Given the description of an element on the screen output the (x, y) to click on. 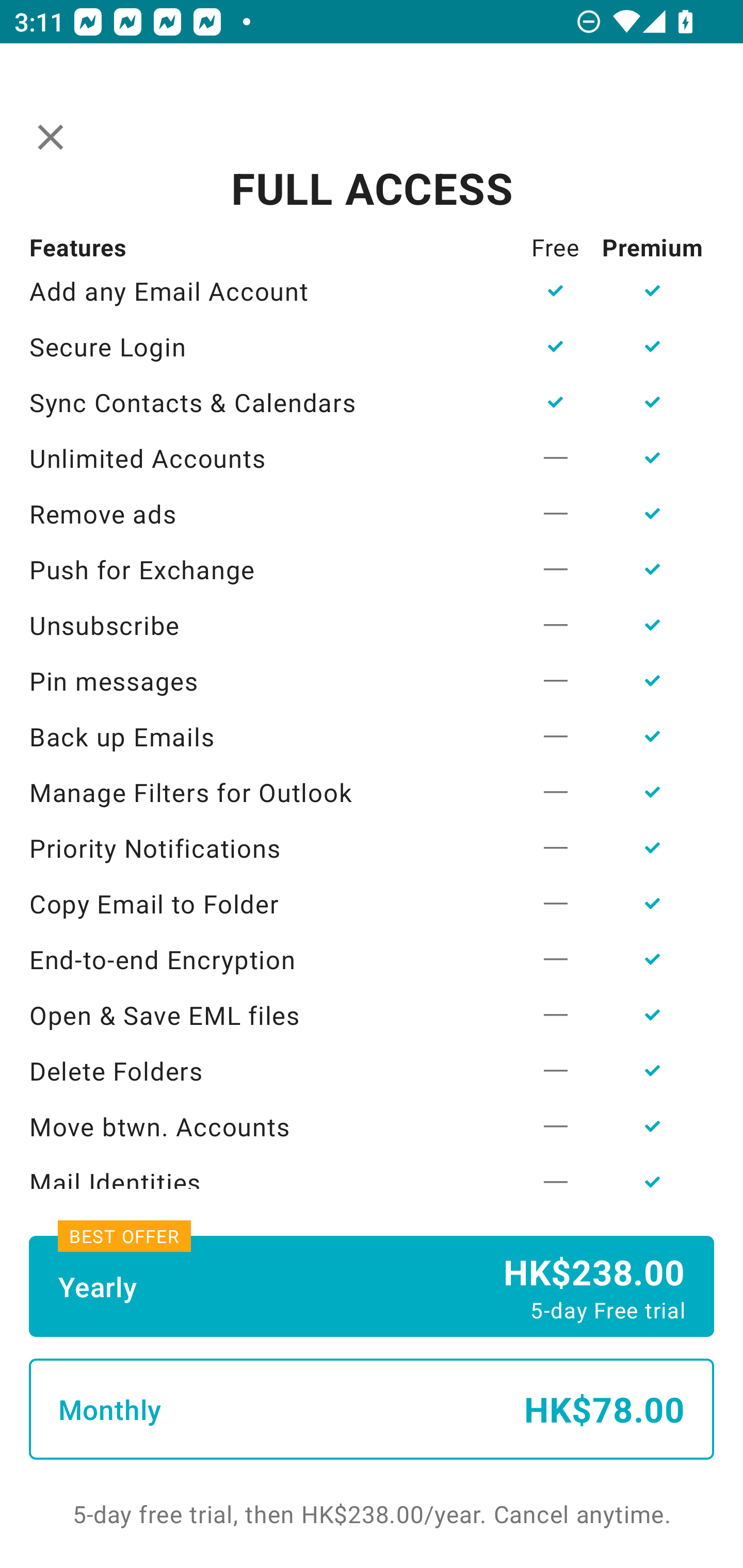
Yearly HK$238.00 5-day Free trial (371, 1286)
Monthly HK$78.00 (371, 1408)
